Given the description of an element on the screen output the (x, y) to click on. 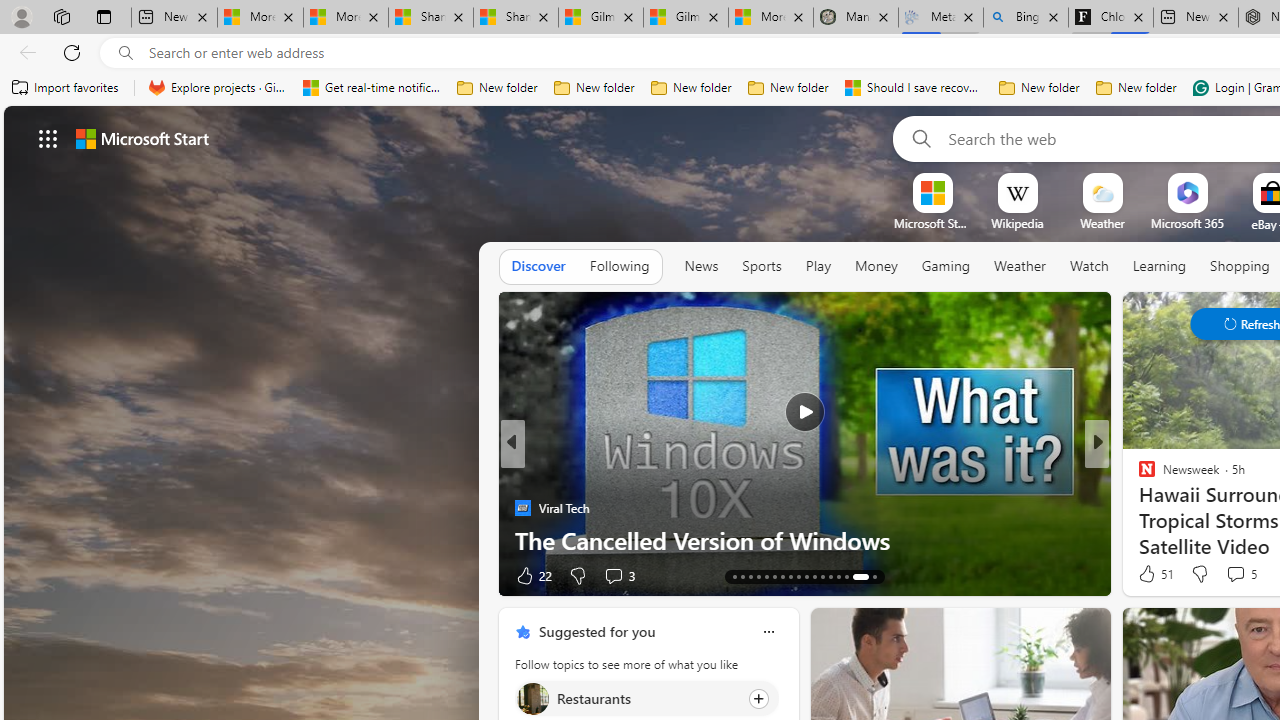
AutomationID: tab-19 (750, 576)
View comments 3 Comment (613, 575)
15 Like (1149, 574)
AutomationID: tab-30 (838, 576)
View comments 35 Comment (11, 575)
View comments 32 Comment (11, 575)
Search icon (125, 53)
